Given the description of an element on the screen output the (x, y) to click on. 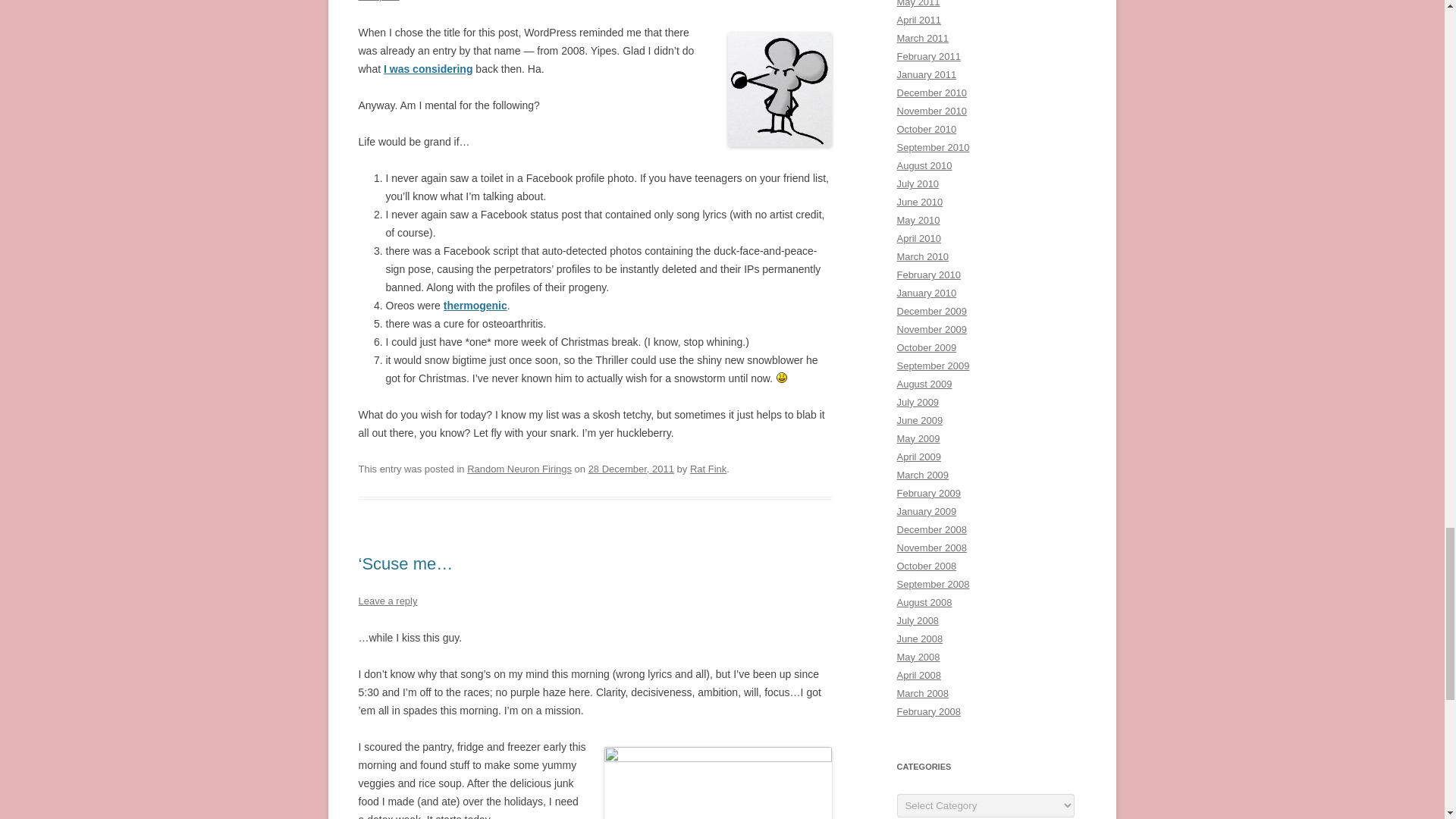
I was considering (427, 69)
28 December, 2011 (631, 469)
thermogenic (475, 305)
8:57 am (631, 469)
Leave a reply (387, 600)
Random Neuron Firings (519, 469)
4 Replies (378, 0)
Rat Fink (708, 469)
View all posts by Rat Fink (708, 469)
